Given the description of an element on the screen output the (x, y) to click on. 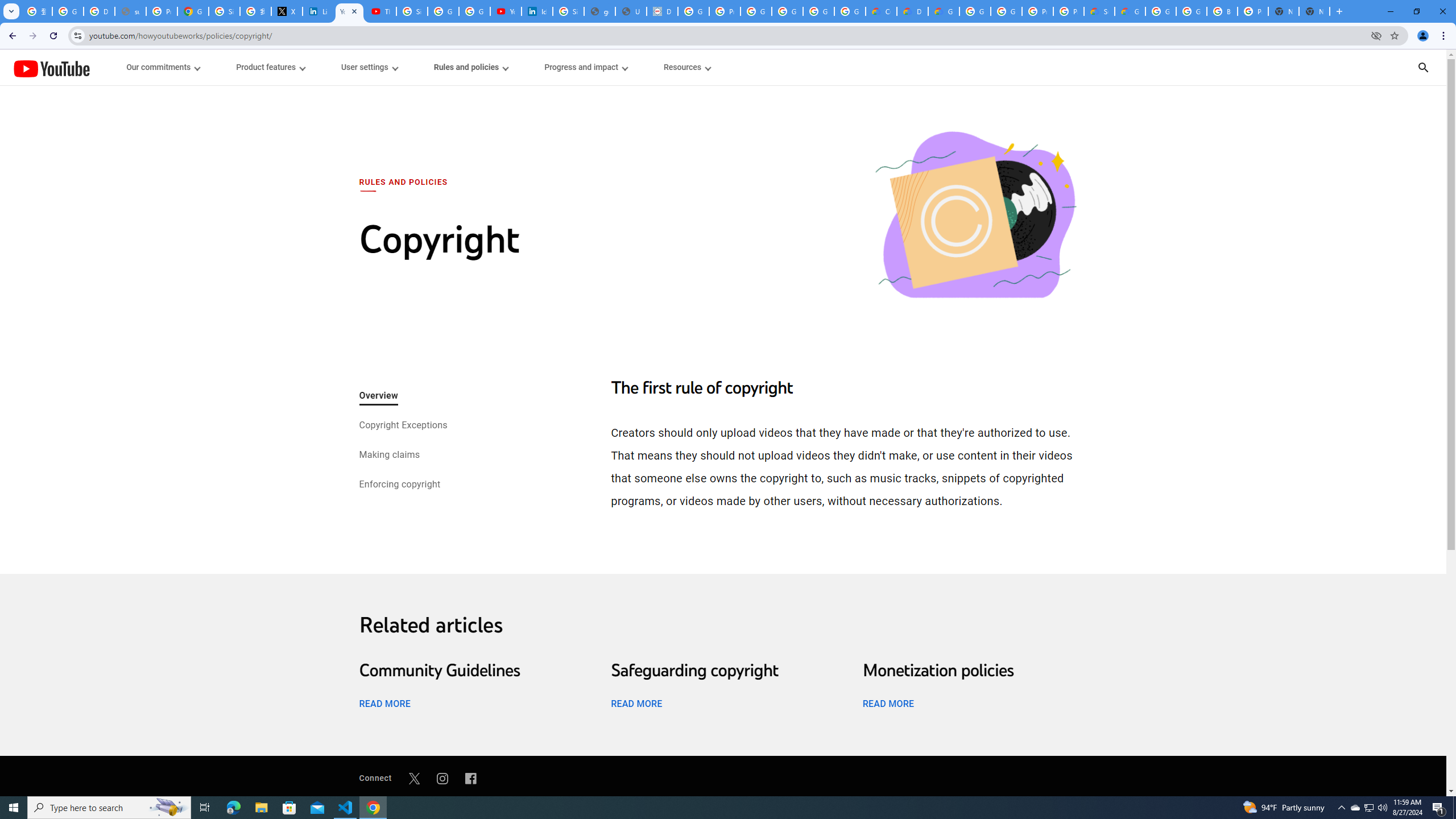
Play (723, 469)
YouTube (51, 68)
Making claims (389, 455)
Close (354, 11)
Twitter (413, 778)
Back (10, 35)
Overview (377, 396)
Facebook (470, 778)
Sign in - Google Accounts (568, 11)
support.google.com - Network error (130, 11)
Identity verification via Persona | LinkedIn Help (536, 11)
User settings menupopup (368, 67)
New Tab (1314, 11)
